Given the description of an element on the screen output the (x, y) to click on. 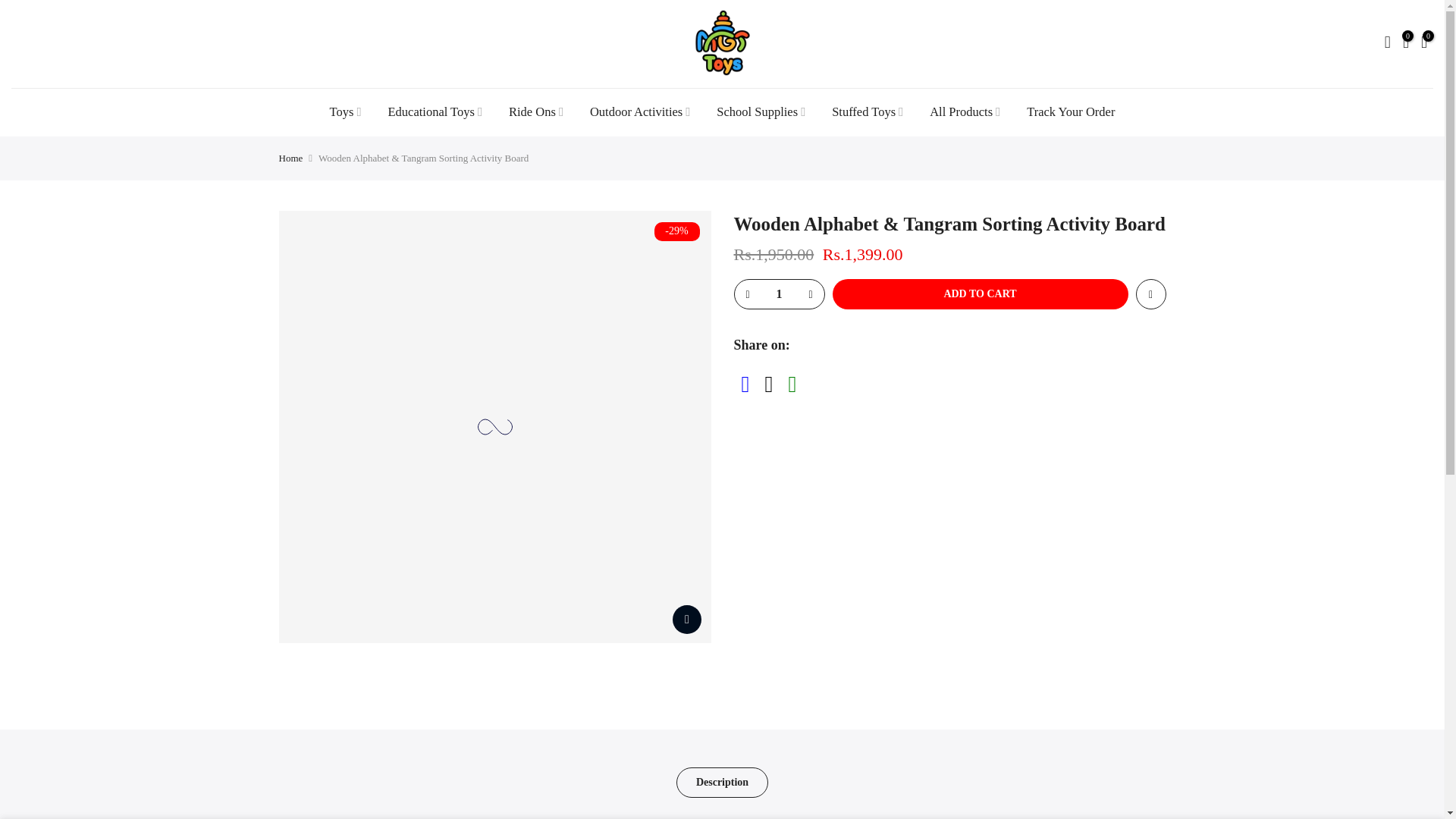
Educational Toys (435, 112)
1 (778, 294)
Toys (344, 112)
Outdoor Activities (639, 112)
Description (722, 782)
ADD TO CART (980, 294)
Stuffed Toys (867, 112)
Track Your Order (1070, 112)
All Products (965, 112)
Ride Ons (536, 112)
School Supplies (760, 112)
0 (1405, 44)
Home (290, 158)
